Given the description of an element on the screen output the (x, y) to click on. 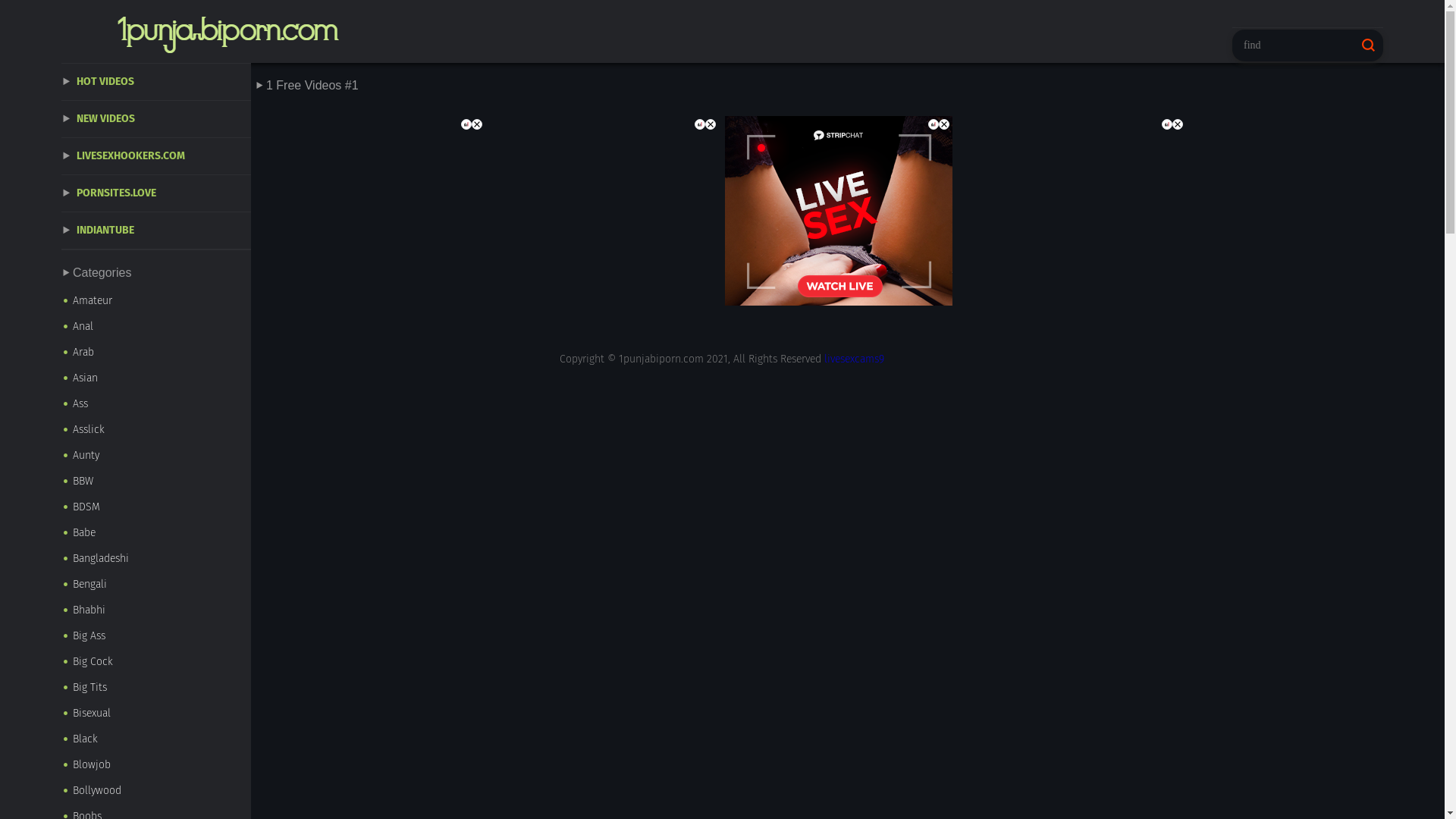
LIVESEXHOOKERS.COM Element type: text (156, 156)
Big Tits Element type: text (156, 687)
Black Element type: text (156, 739)
HOT VIDEOS Element type: text (156, 81)
Anal Element type: text (156, 326)
Bollywood Element type: text (156, 790)
Bisexual Element type: text (156, 713)
Asslick Element type: text (156, 429)
Arab Element type: text (156, 352)
Amateur Element type: text (156, 300)
Big Ass Element type: text (156, 636)
INDIANTUBE Element type: text (156, 230)
Asian Element type: text (156, 378)
Bhabhi Element type: text (156, 610)
Blowjob Element type: text (156, 765)
Bangladeshi Element type: text (156, 558)
NEW VIDEOS Element type: text (156, 119)
livesexcams9 Element type: text (854, 358)
Bengali Element type: text (156, 584)
Aunty Element type: text (156, 455)
Babe Element type: text (156, 533)
Big Cock Element type: text (156, 661)
PORNSITES.LOVE Element type: text (156, 193)
BBW Element type: text (156, 481)
BDSM Element type: text (156, 507)
Ass Element type: text (156, 404)
